Given the description of an element on the screen output the (x, y) to click on. 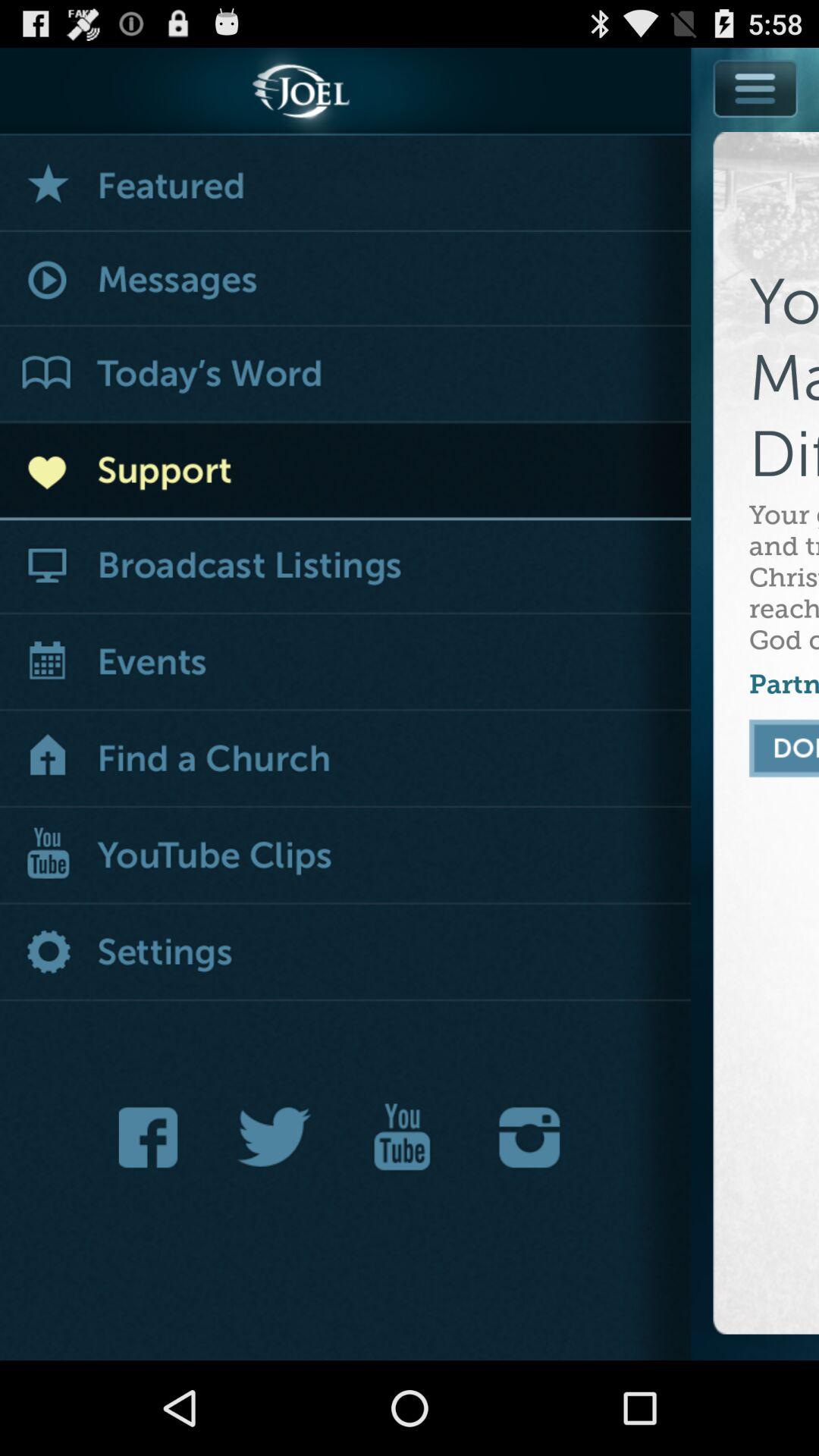
go to youtube (401, 1137)
